Given the description of an element on the screen output the (x, y) to click on. 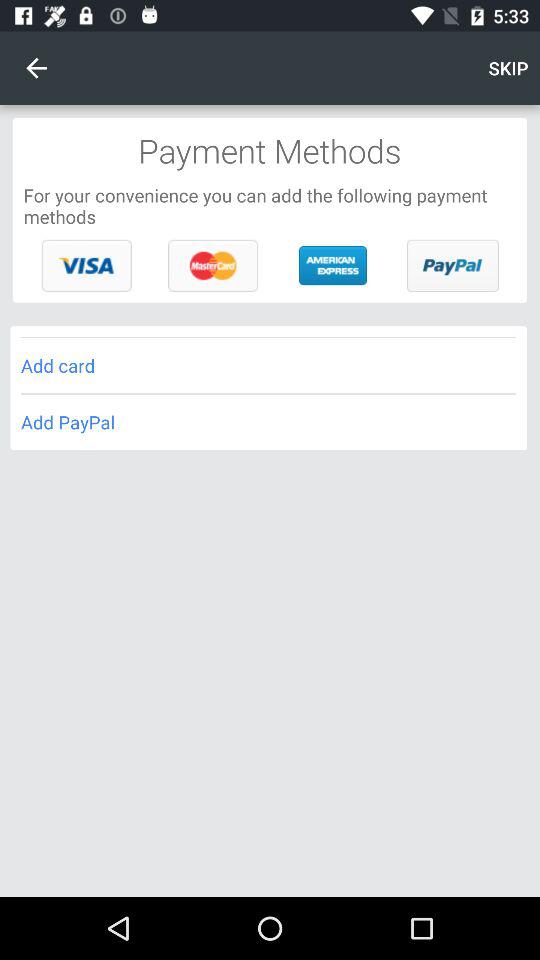
jump until the skip item (508, 67)
